Given the description of an element on the screen output the (x, y) to click on. 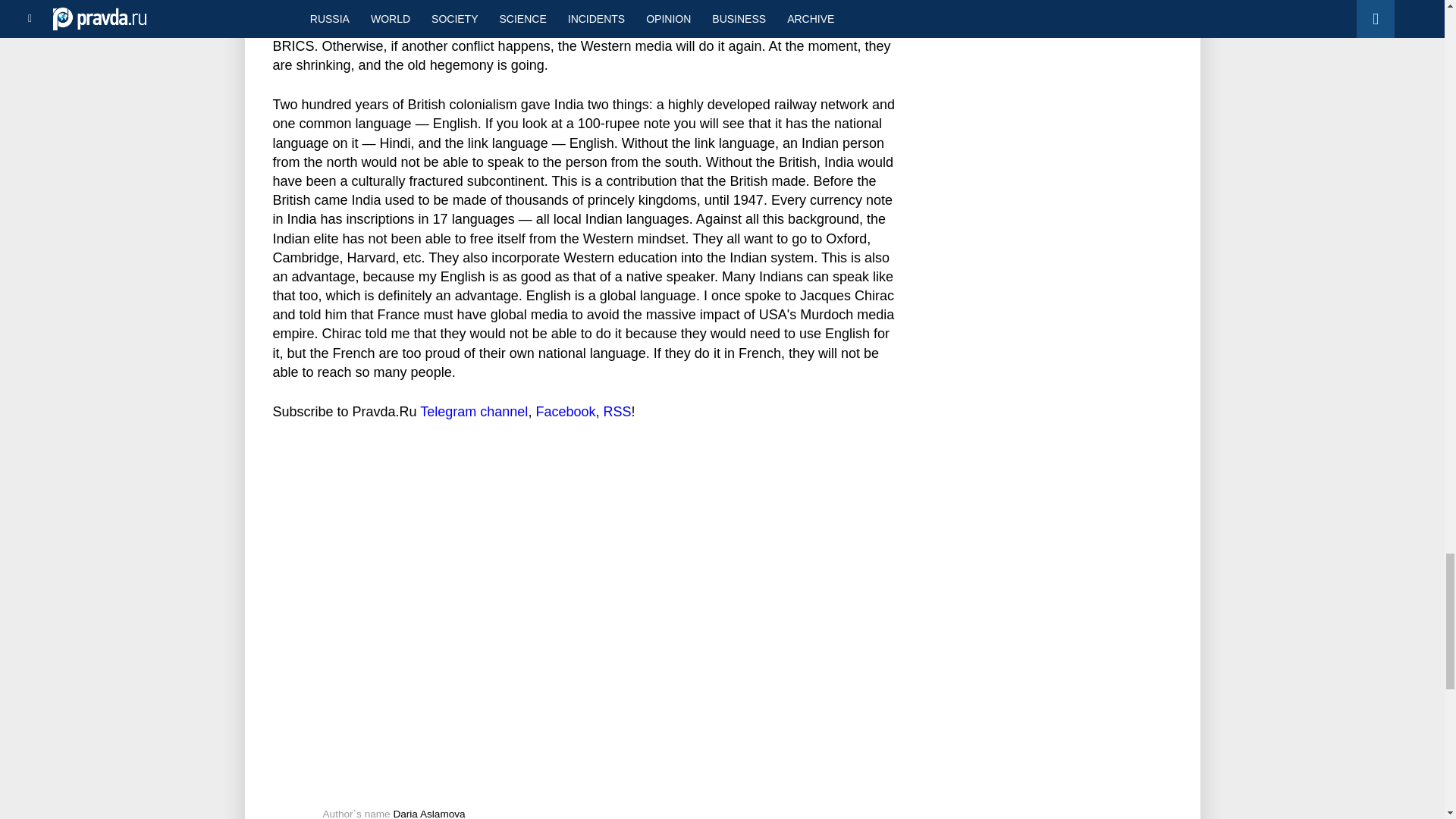
Facebook (565, 411)
Daria Aslamova (428, 813)
RSS (616, 411)
Telegram channel (473, 411)
